Given the description of an element on the screen output the (x, y) to click on. 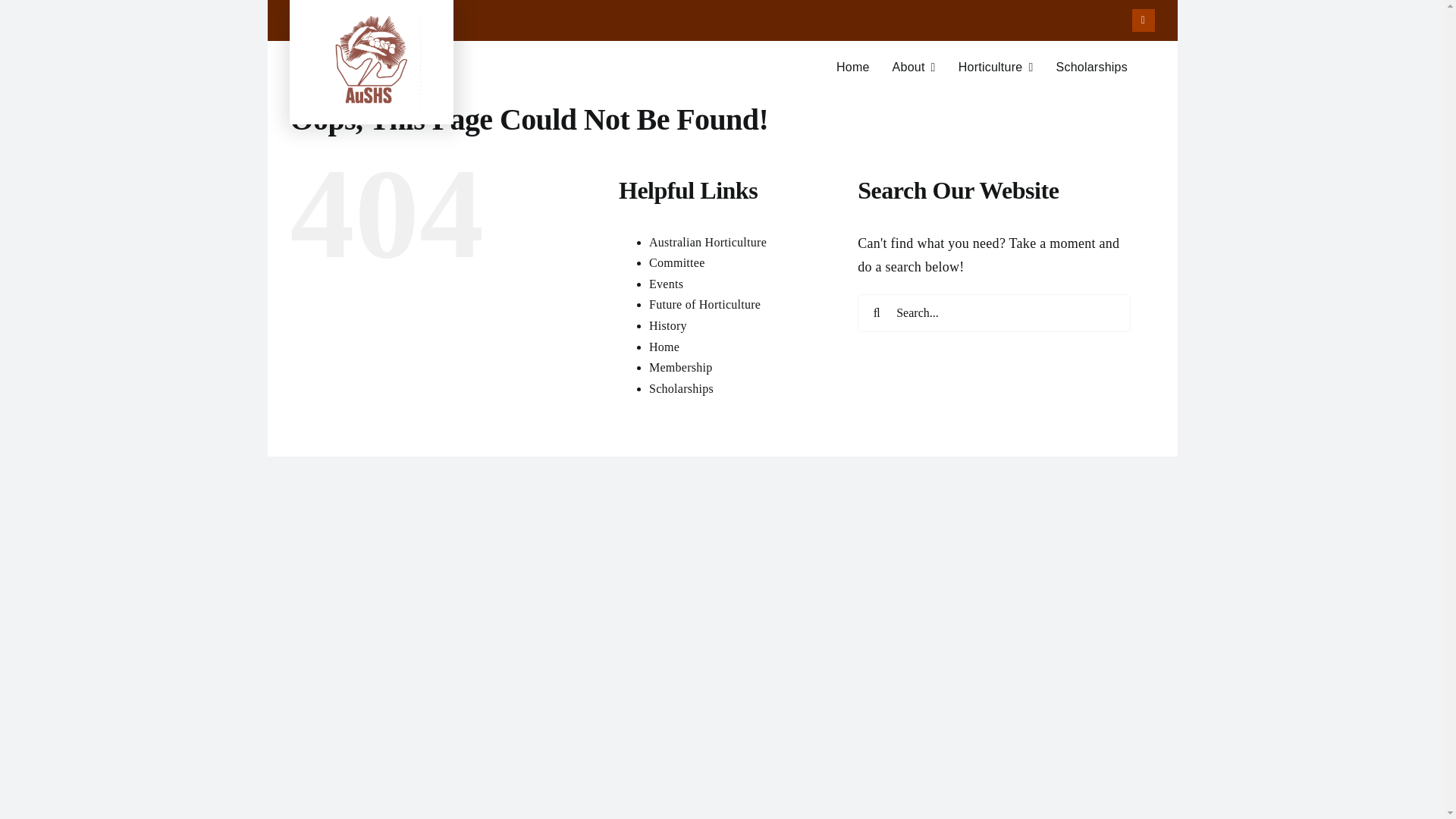
Scholarships (1090, 67)
Scholarships (681, 388)
History (668, 325)
Home (664, 345)
Facebook (1143, 20)
Events (721, 74)
Future of Horticulture (665, 283)
Horticulture (704, 304)
Membership (995, 67)
Australian Horticulture (681, 367)
Committee (708, 241)
